Given the description of an element on the screen output the (x, y) to click on. 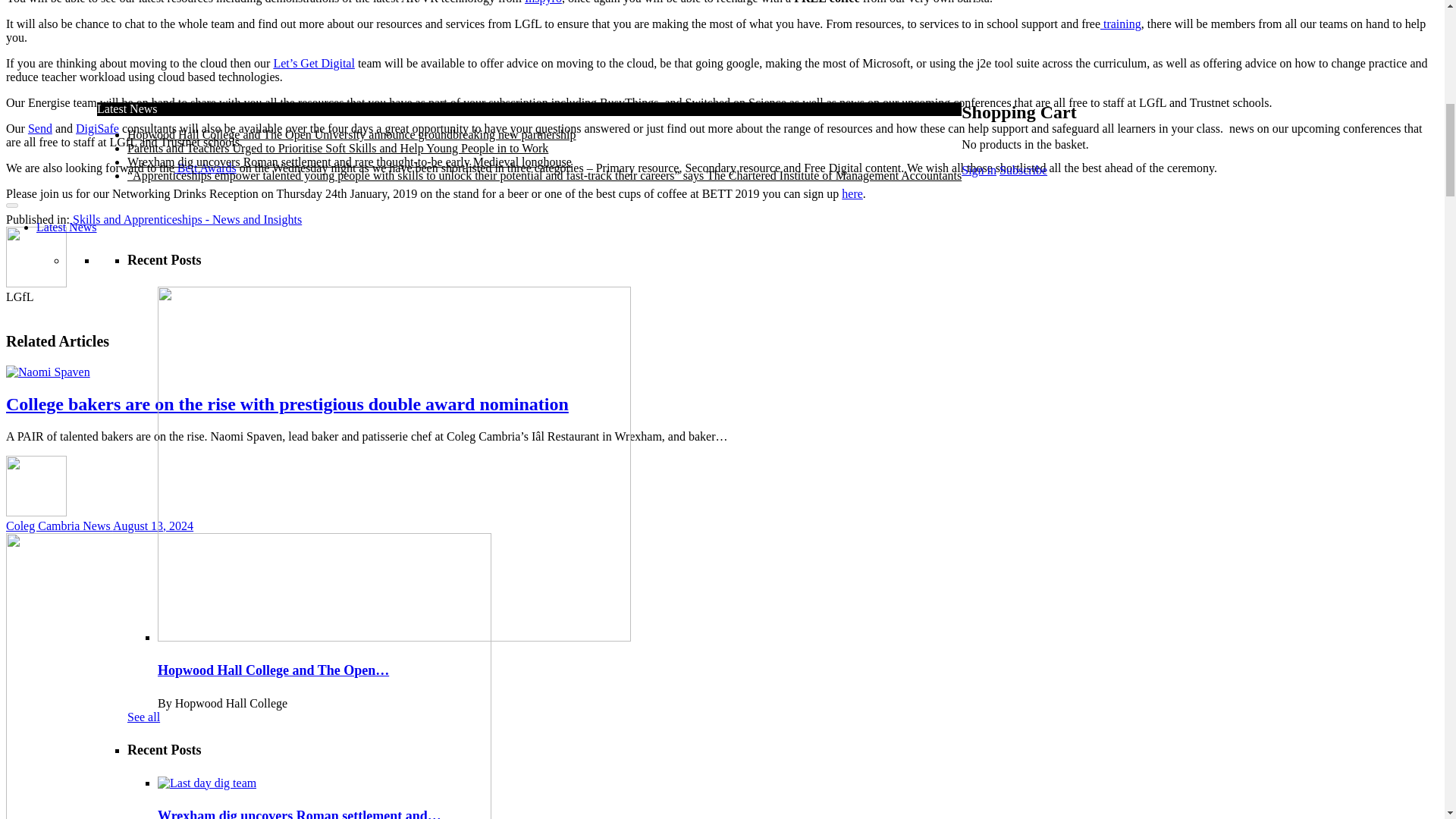
Skills and Apprenticeships - News and Insights (242, 689)
See all (144, 589)
Work and leadership (177, 676)
See all (144, 42)
Exclusives (62, 730)
Permalink to Exam Results and the Future of Work (232, 797)
Sign in (240, 717)
Subscribe (166, 717)
See all (144, 187)
